Given the description of an element on the screen output the (x, y) to click on. 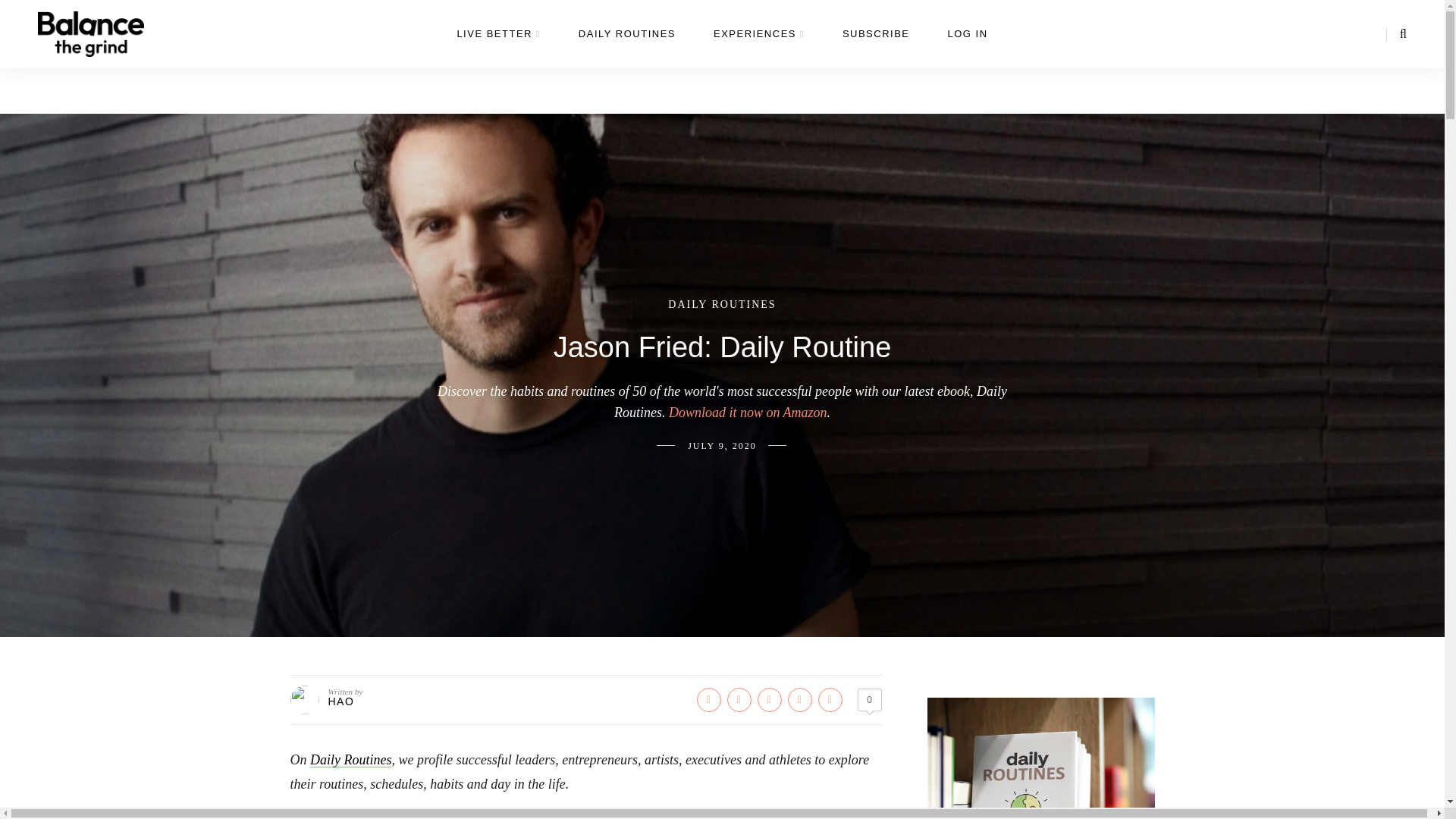
DAILY ROUTINES (626, 45)
Posts by hao (340, 701)
EXPERIENCES (759, 45)
LIVE BETTER (498, 45)
